Given the description of an element on the screen output the (x, y) to click on. 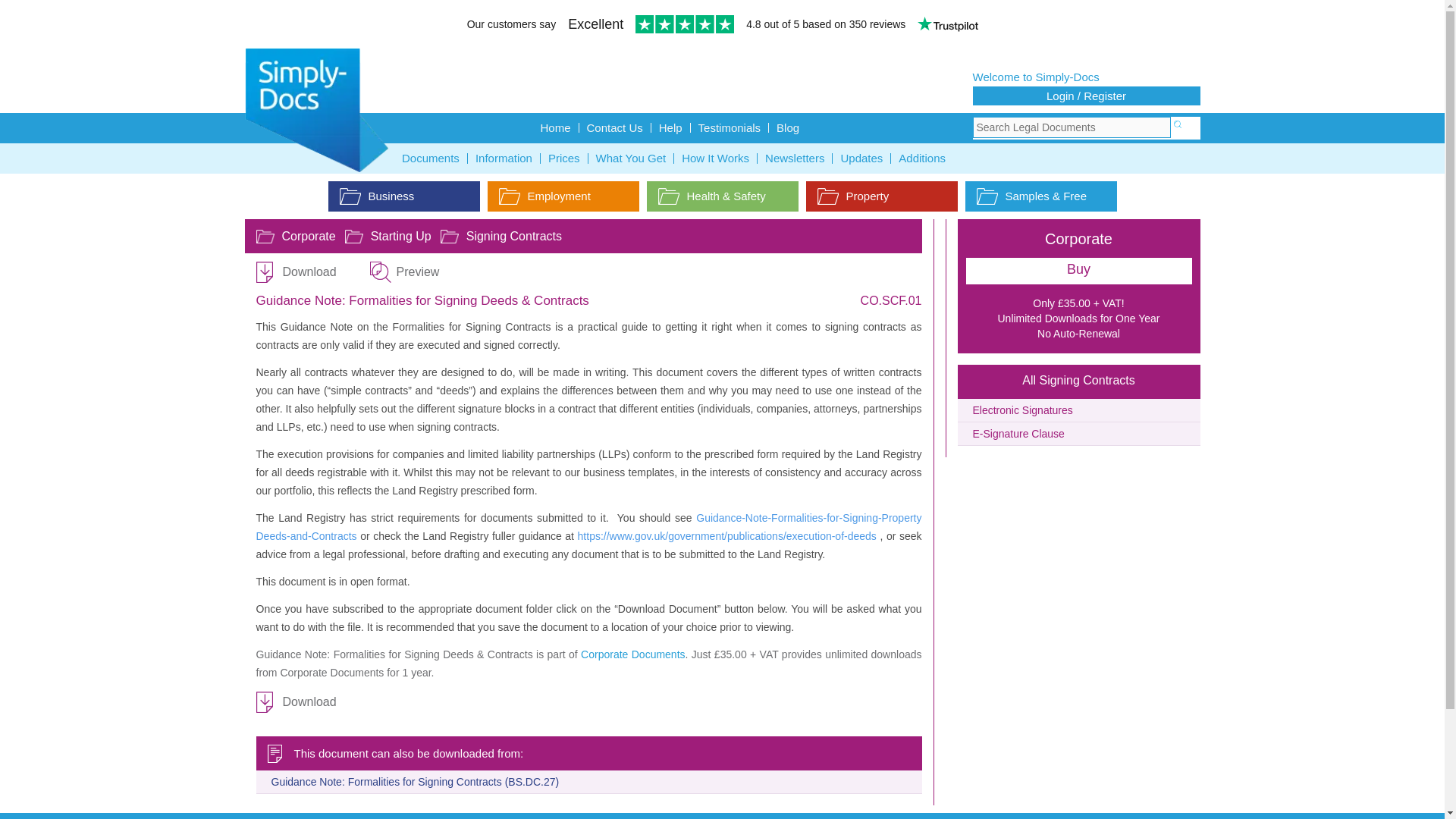
Help (670, 127)
Home (555, 127)
Customer reviews powered by Trustpilot (721, 25)
Testimonials (730, 127)
Blog (787, 127)
Documents (430, 158)
Contact Us (614, 127)
